Given the description of an element on the screen output the (x, y) to click on. 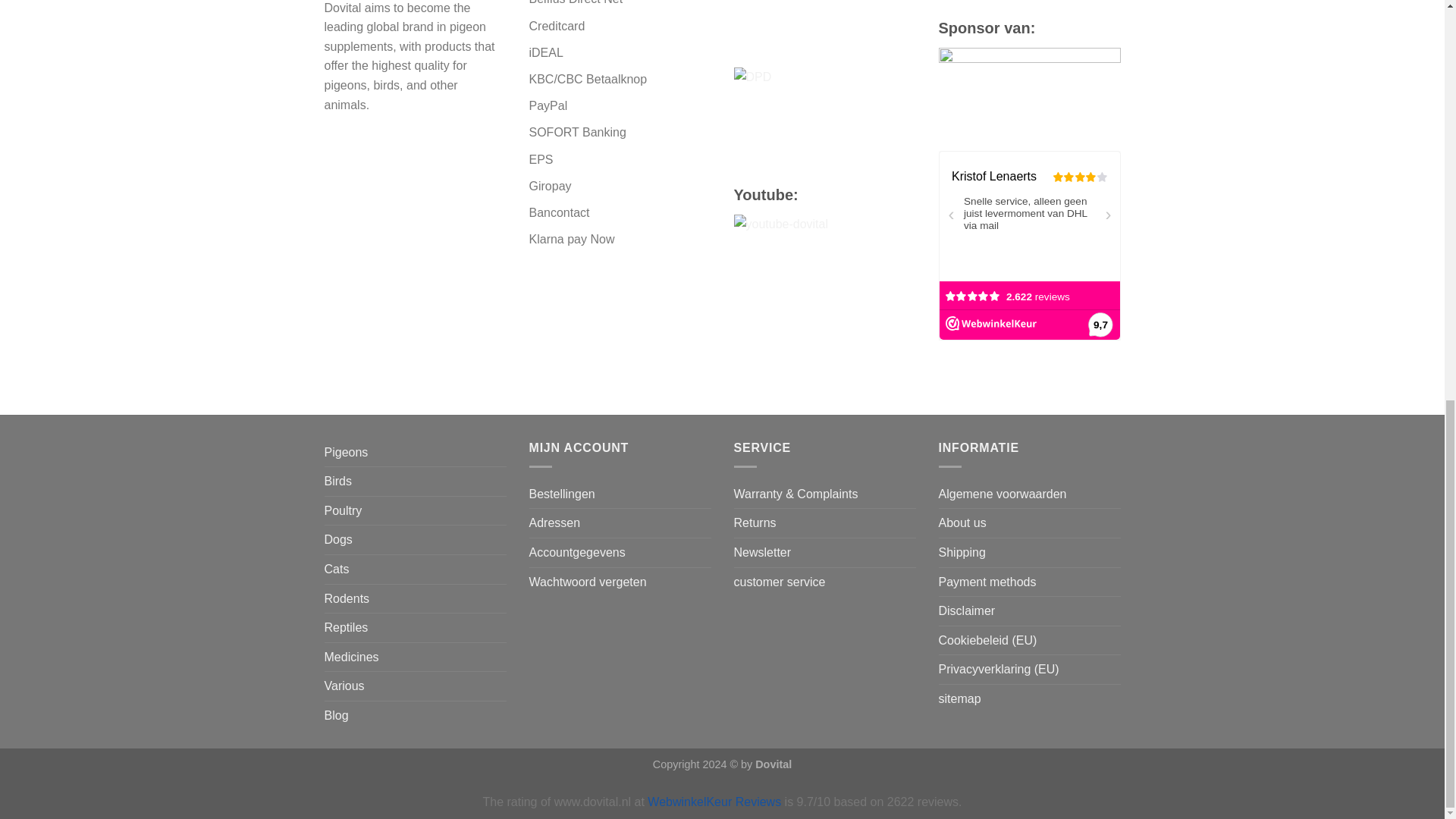
Reptiles (346, 627)
Bestellingen (562, 493)
Medicines (351, 656)
Adressen (554, 522)
Birds (338, 481)
Poultry (343, 510)
Dogs (338, 539)
Rodents (346, 598)
Pigeons (346, 452)
Various (344, 686)
